Given the description of an element on the screen output the (x, y) to click on. 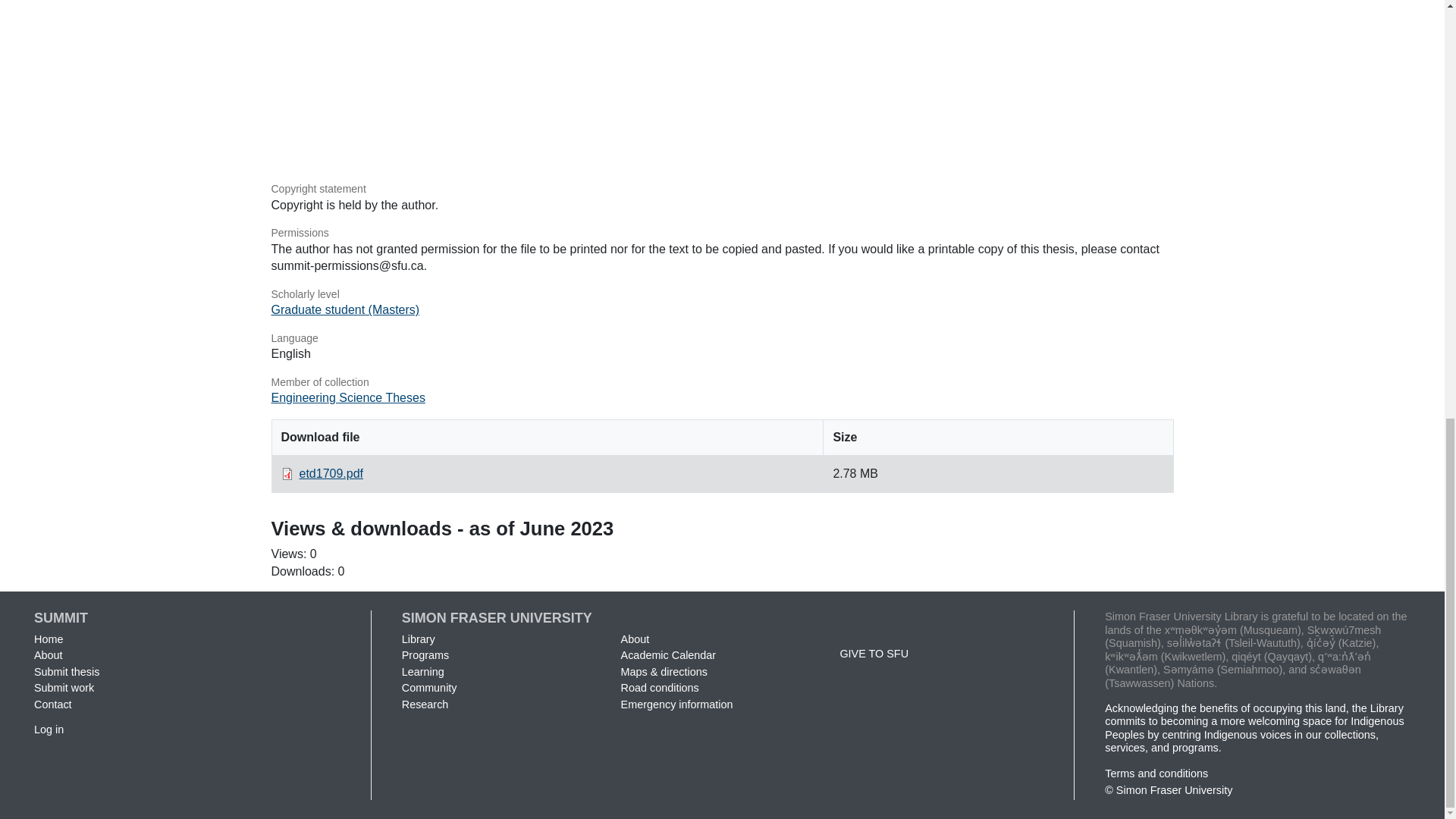
Copyright statement (721, 189)
Academic Calendar (668, 654)
Submit work (63, 687)
Contact (52, 704)
Research (424, 704)
etd1709.pdf (330, 472)
Learning (422, 671)
About (47, 654)
Home (47, 639)
Engineering Science Theses (347, 397)
Programs (424, 654)
Library (418, 639)
Community (429, 687)
Scholarly level (721, 294)
